Given the description of an element on the screen output the (x, y) to click on. 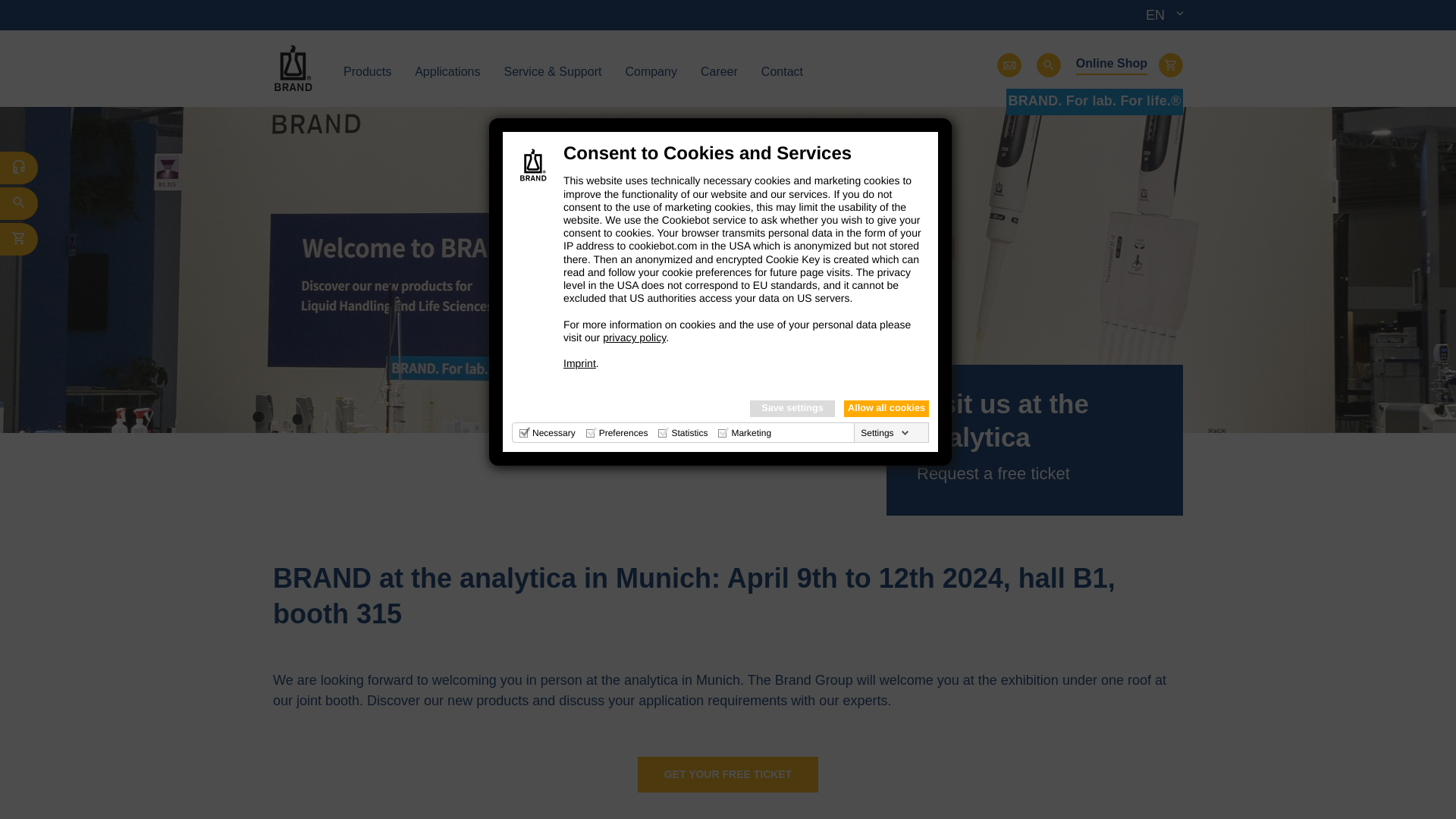
Allow all cookies (886, 408)
privacy policy (633, 337)
Imprint (579, 363)
Save settings (791, 408)
Settings (884, 432)
